Given the description of an element on the screen output the (x, y) to click on. 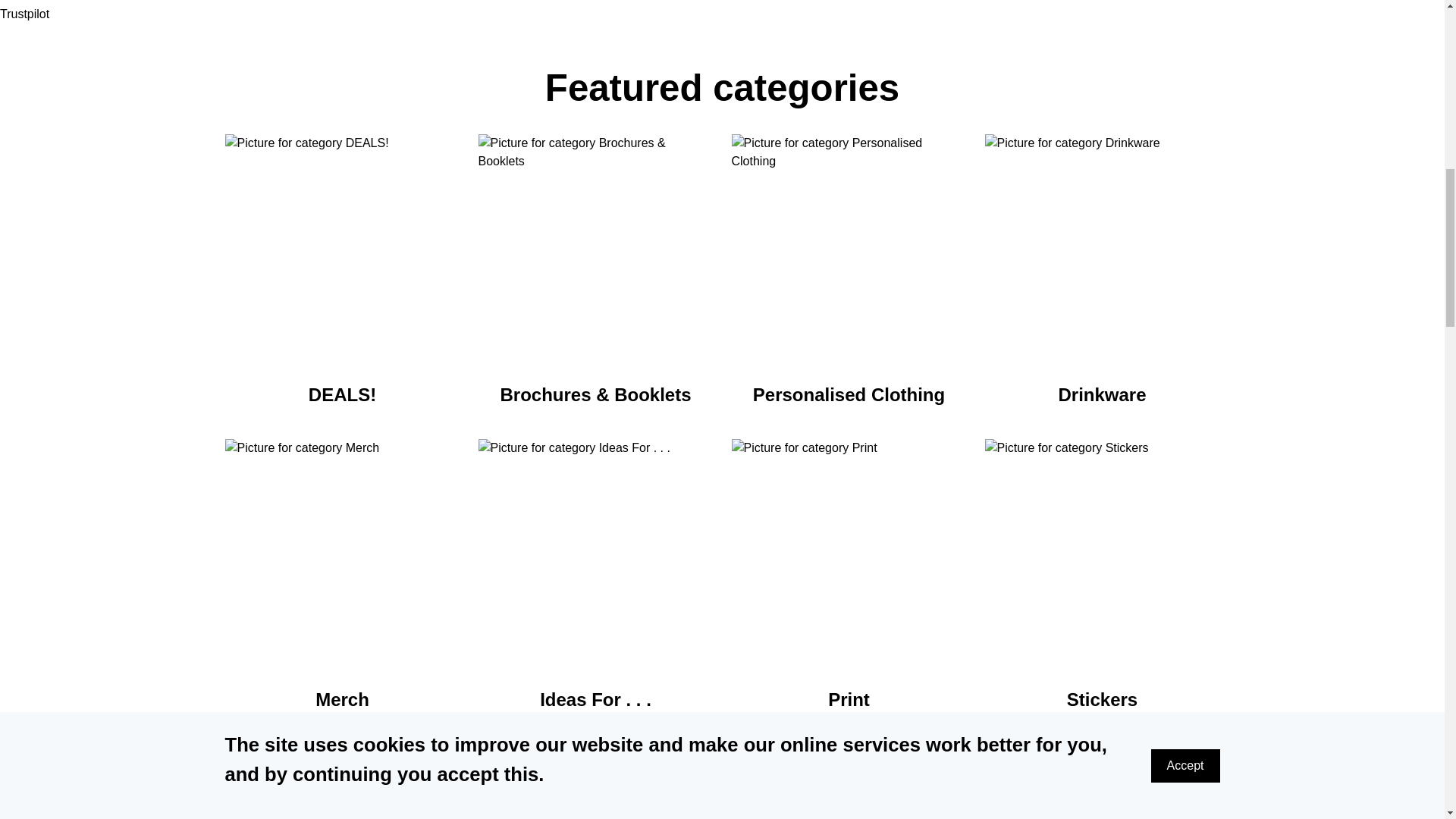
Show products in category Drinkware (1102, 251)
Show products in category Personalised Clothing (848, 251)
Show products in category Print (848, 556)
Show products in category DEALS!  (342, 251)
Show products in category Print (848, 699)
Show products in category Ideas For . . . (595, 699)
Show products in category Drinkware (1101, 394)
Show products in category Merch (342, 699)
Show products in category Personalised Clothing (848, 394)
Show products in category DEALS!  (341, 394)
